Given the description of an element on the screen output the (x, y) to click on. 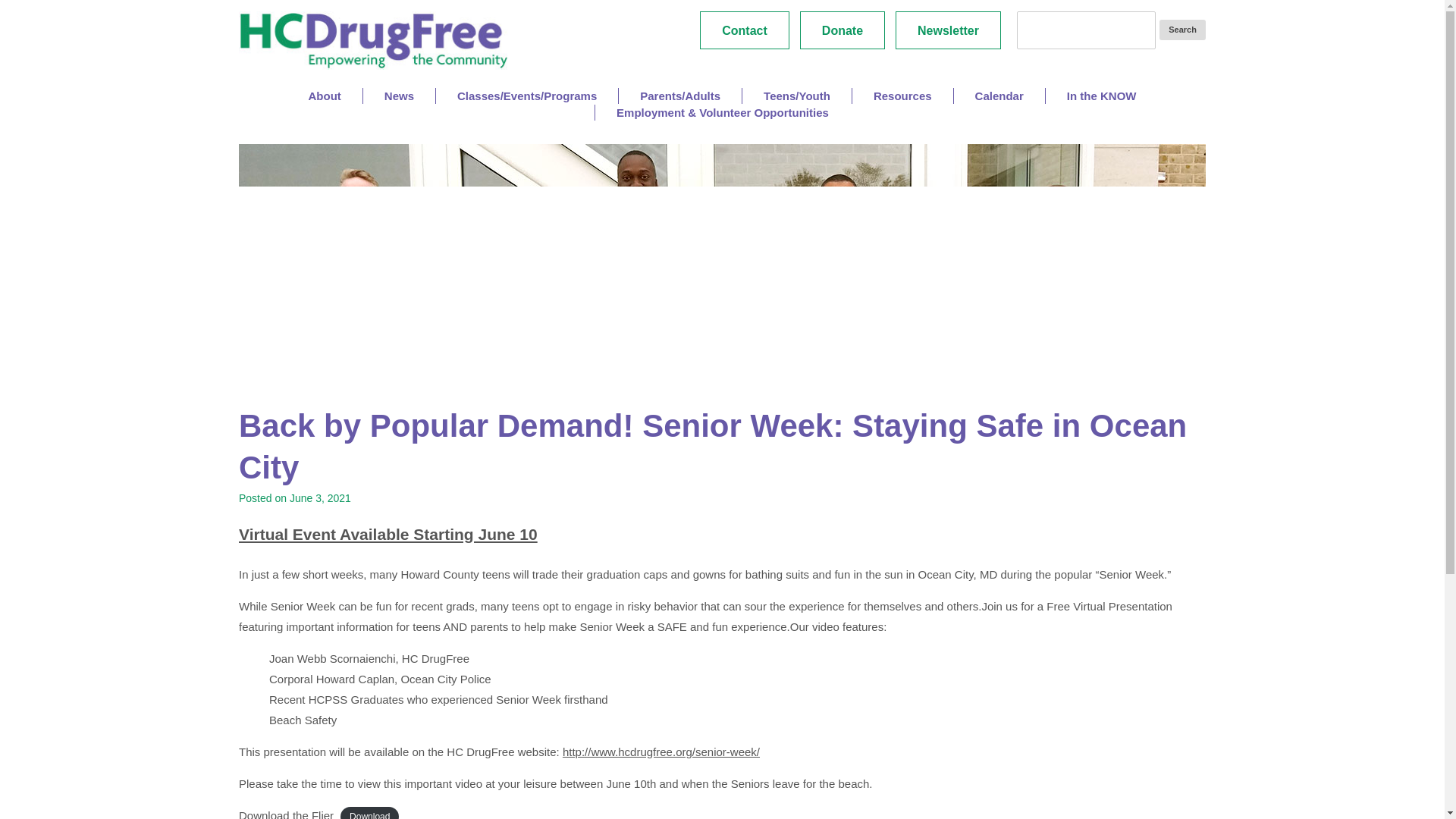
News (398, 95)
Contact (744, 30)
Search (1181, 29)
Donate (842, 30)
Resources (902, 95)
Search (1181, 29)
Newsletter (948, 30)
About (323, 95)
